Given the description of an element on the screen output the (x, y) to click on. 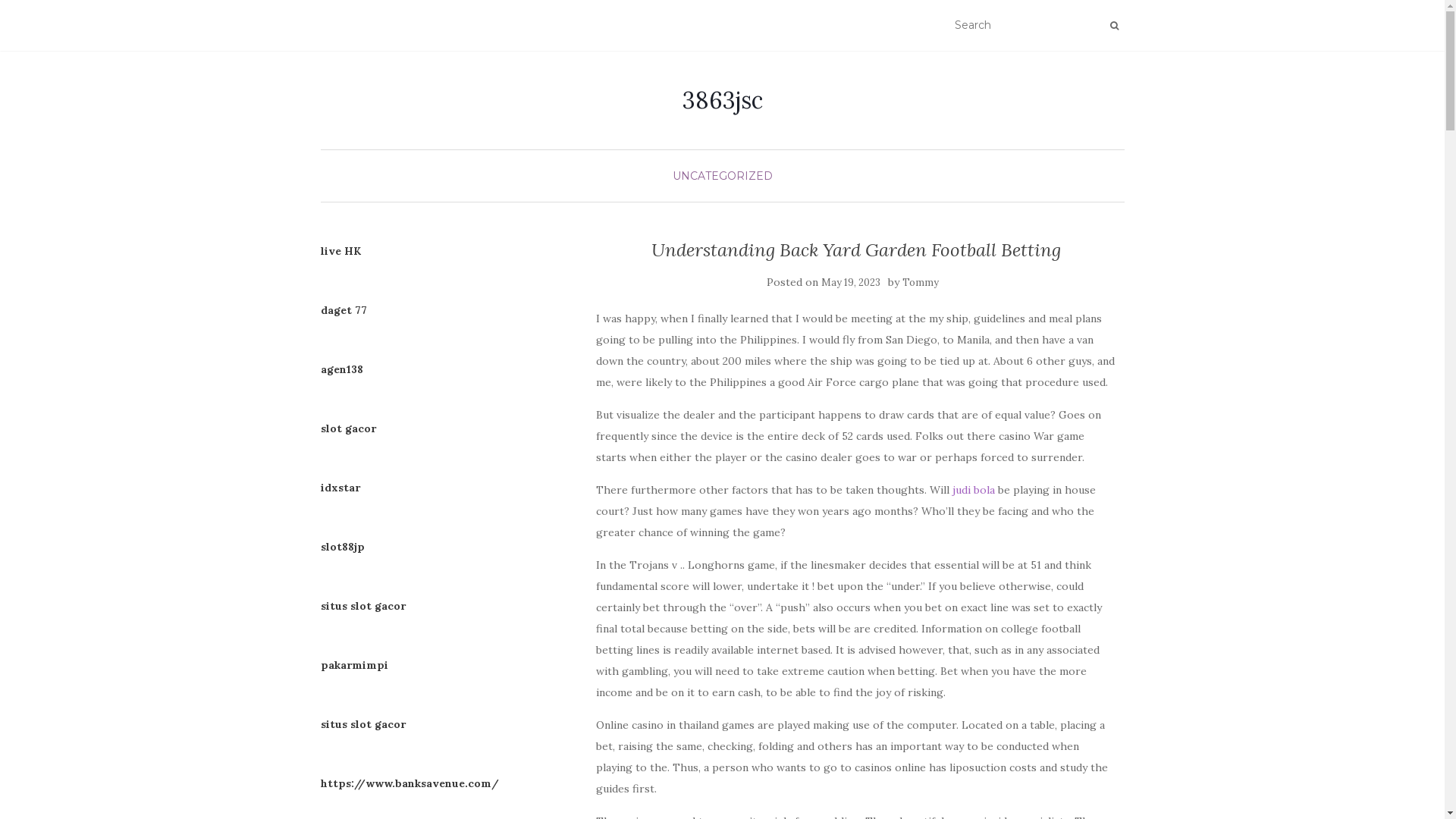
idxstar Element type: text (339, 487)
agen138 Element type: text (341, 369)
3863jsc Element type: text (722, 99)
situs slot gacor Element type: text (362, 724)
UNCATEGORIZED Element type: text (721, 175)
May 19, 2023 Element type: text (850, 282)
pakarmimpi Element type: text (353, 664)
Search Element type: text (1114, 25)
judi bola Element type: text (973, 489)
https://www.banksavenue.com/ Element type: text (409, 783)
situs slot gacor Element type: text (362, 605)
slot88jp Element type: text (342, 546)
Tommy Element type: text (920, 282)
slot gacor Element type: text (347, 428)
live HK Element type: text (340, 250)
daget 77 Element type: text (343, 309)
